Given the description of an element on the screen output the (x, y) to click on. 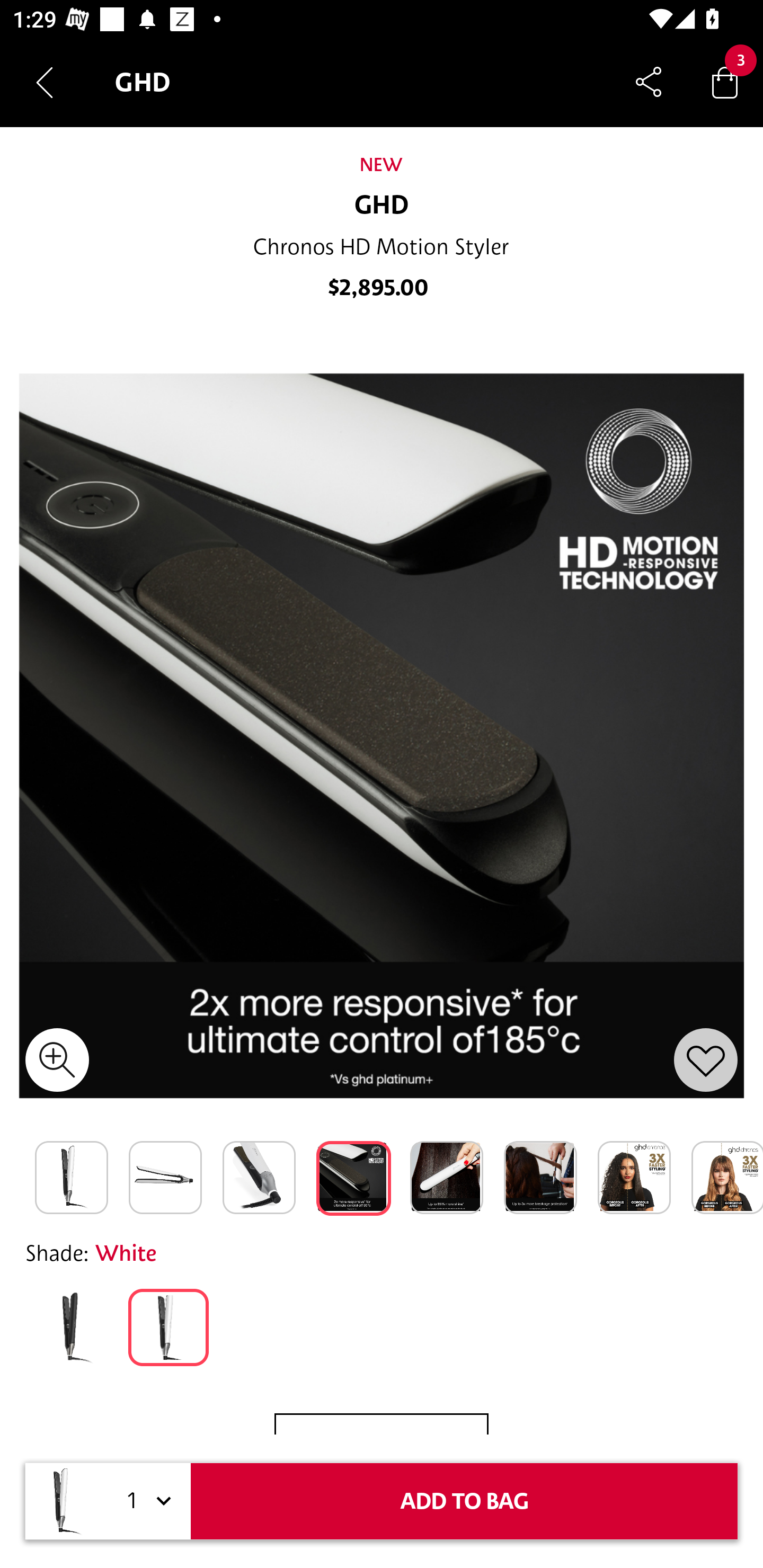
Navigate up (44, 82)
Share (648, 81)
Bag (724, 81)
GHD (381, 205)
1 (145, 1500)
ADD TO BAG (463, 1500)
